Given the description of an element on the screen output the (x, y) to click on. 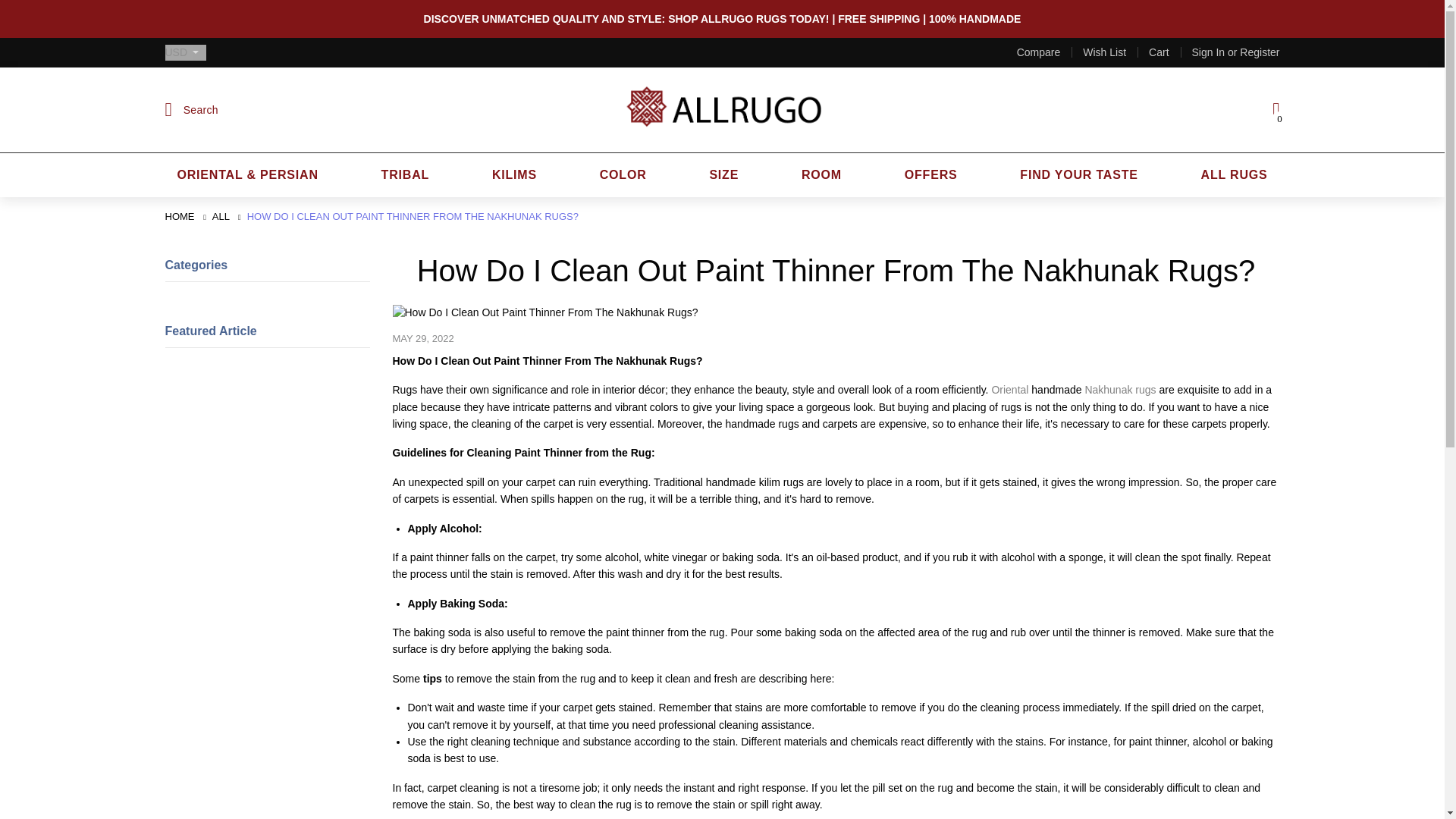
KILIMS (514, 174)
All (221, 215)
ALLRUGO (181, 215)
COLOR (623, 174)
How Do I Clean Out Paint Thinner From The Nakhunak Rugs? (412, 215)
Register (1259, 51)
Cart (1158, 51)
TRIBAL (405, 174)
Wish List (1104, 51)
Compare (1038, 51)
